Given the description of an element on the screen output the (x, y) to click on. 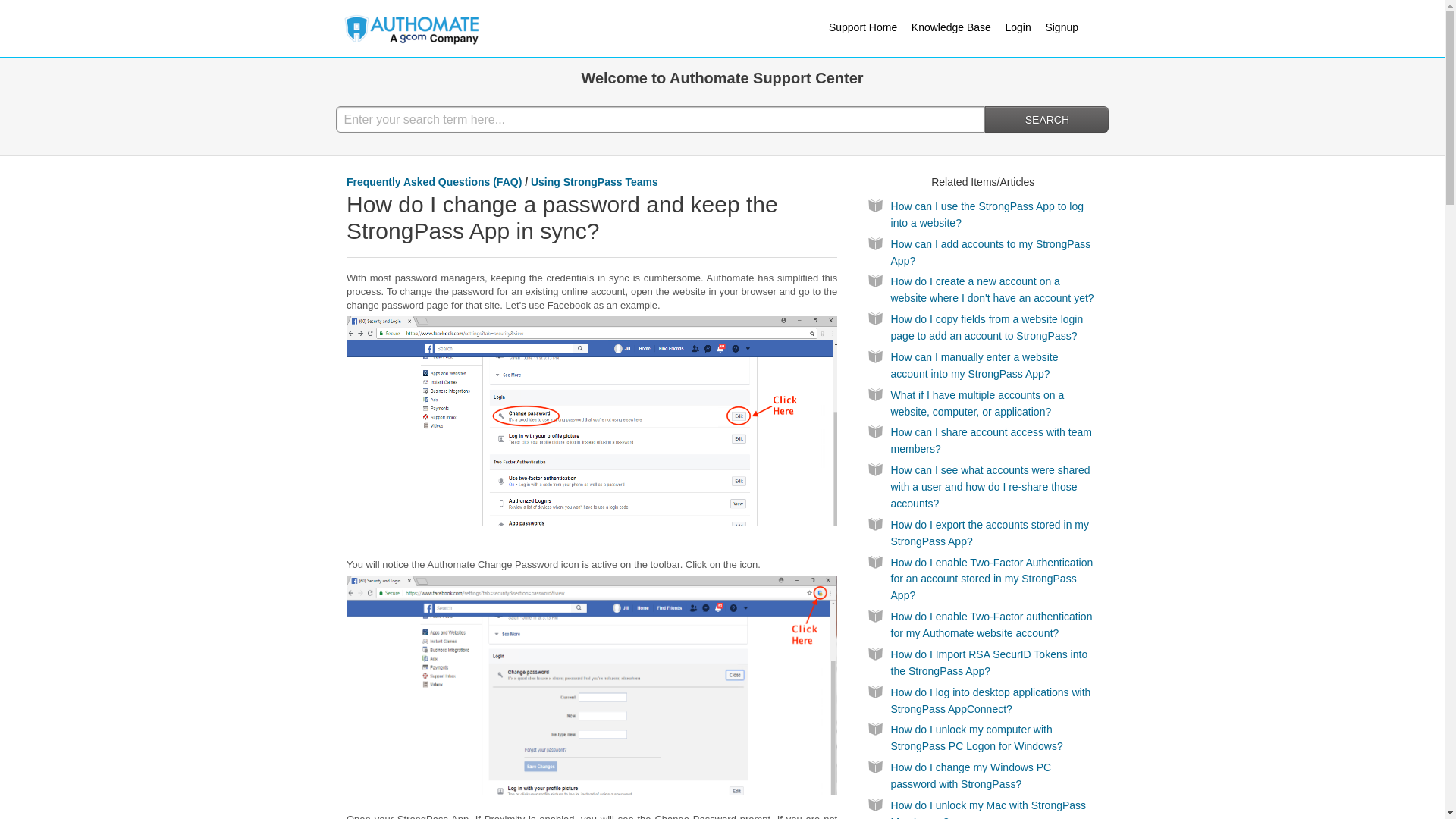
Signup (1067, 27)
How do I Import RSA SecurID Tokens into the StrongPass App? (989, 662)
Support Home (868, 27)
How do I unlock my Mac with StrongPass Mac Logon? (988, 809)
Using StrongPass Teams (594, 182)
Knowledge Base (957, 27)
How can I share account access with team members? (991, 440)
Login (1024, 27)
SEARCH (1046, 119)
